Given the description of an element on the screen output the (x, y) to click on. 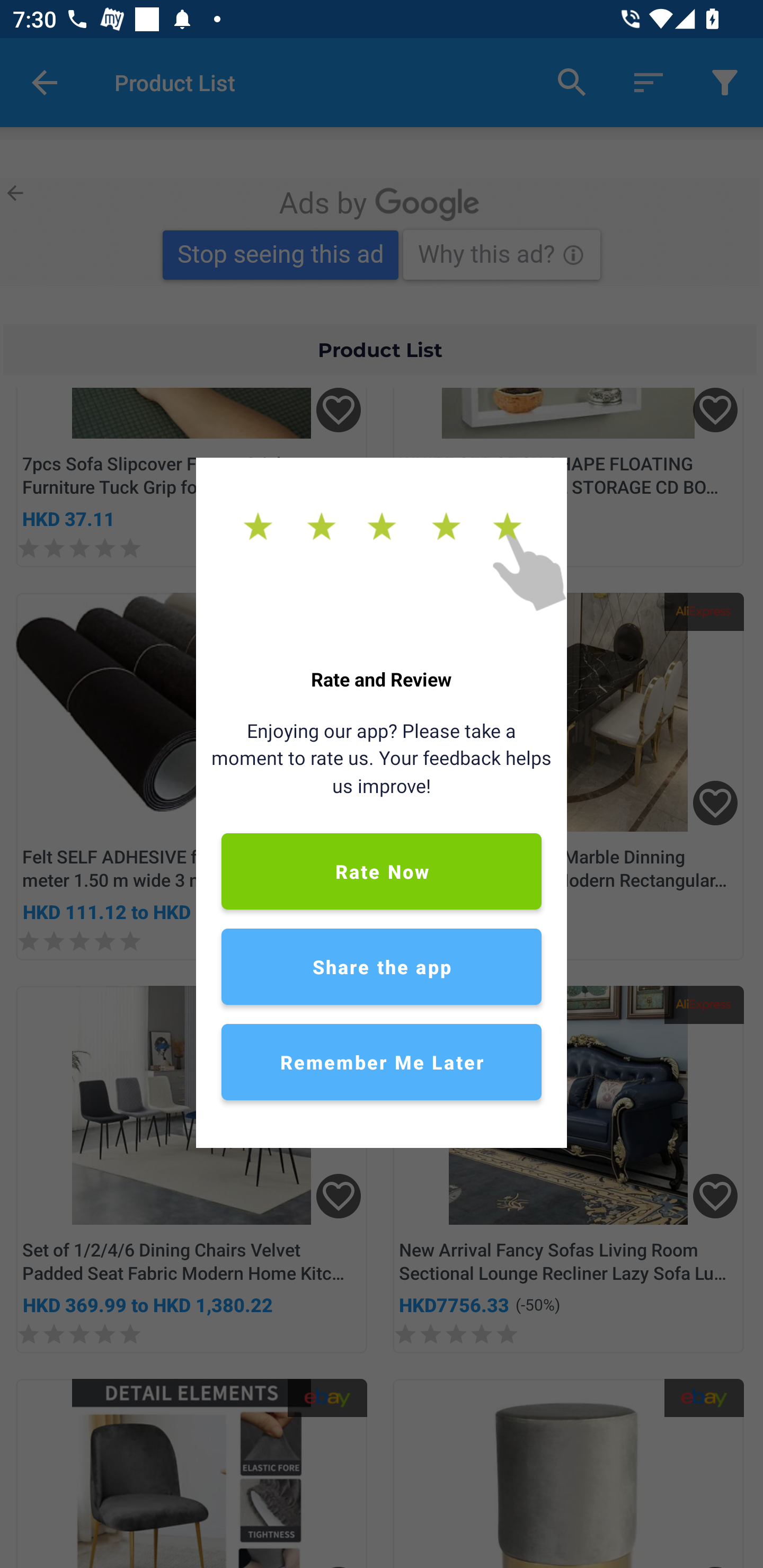
Rate Now (381, 870)
Share the app (381, 966)
Remember Me Later (381, 1062)
